Given the description of an element on the screen output the (x, y) to click on. 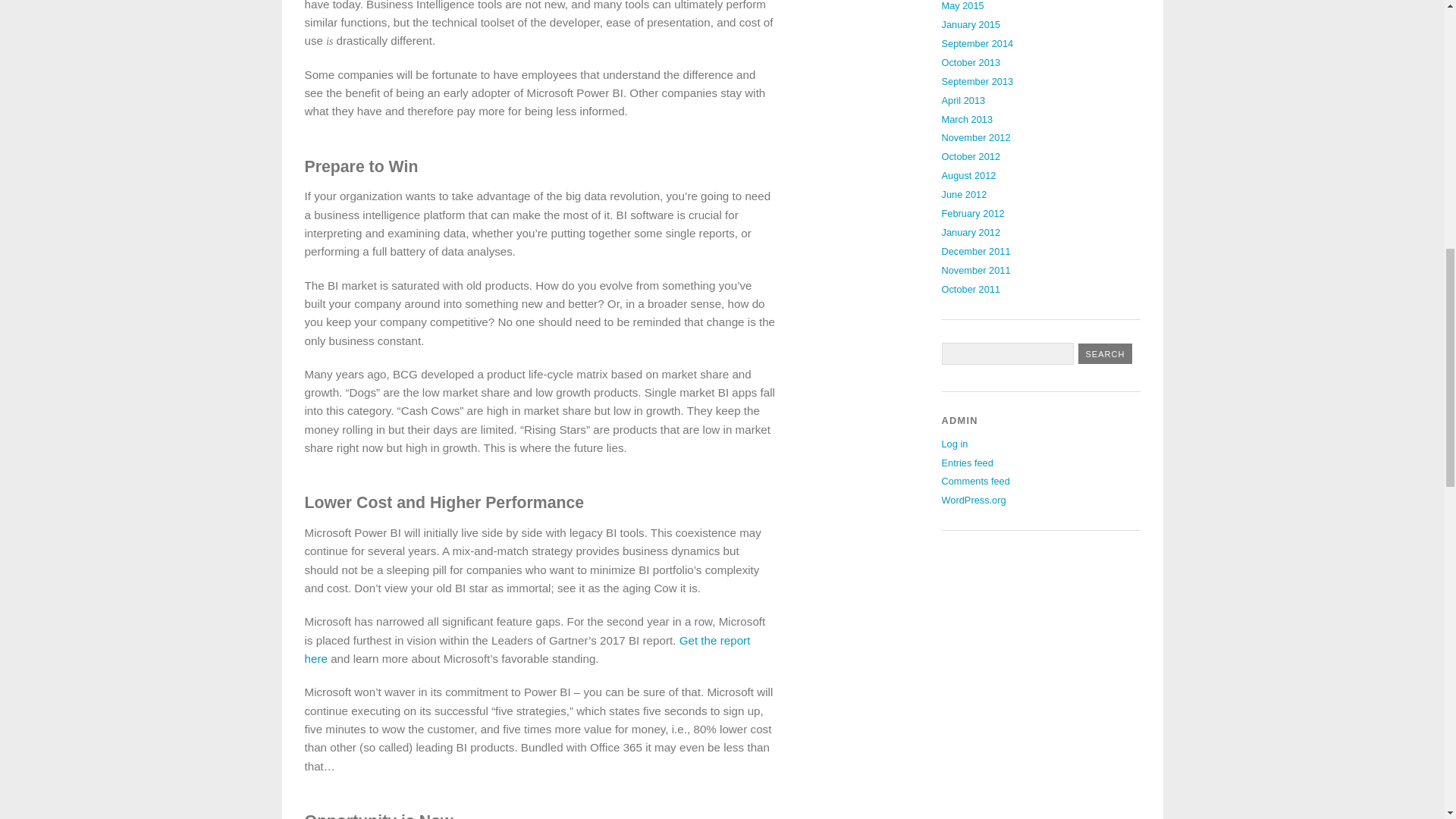
Get the report here (527, 649)
May 2015 (963, 5)
Search (1105, 353)
September 2014 (977, 43)
April 2013 (963, 100)
September 2013 (977, 81)
October 2013 (971, 61)
Search (1105, 353)
January 2015 (971, 24)
March 2013 (967, 119)
November 2012 (976, 137)
